Given the description of an element on the screen output the (x, y) to click on. 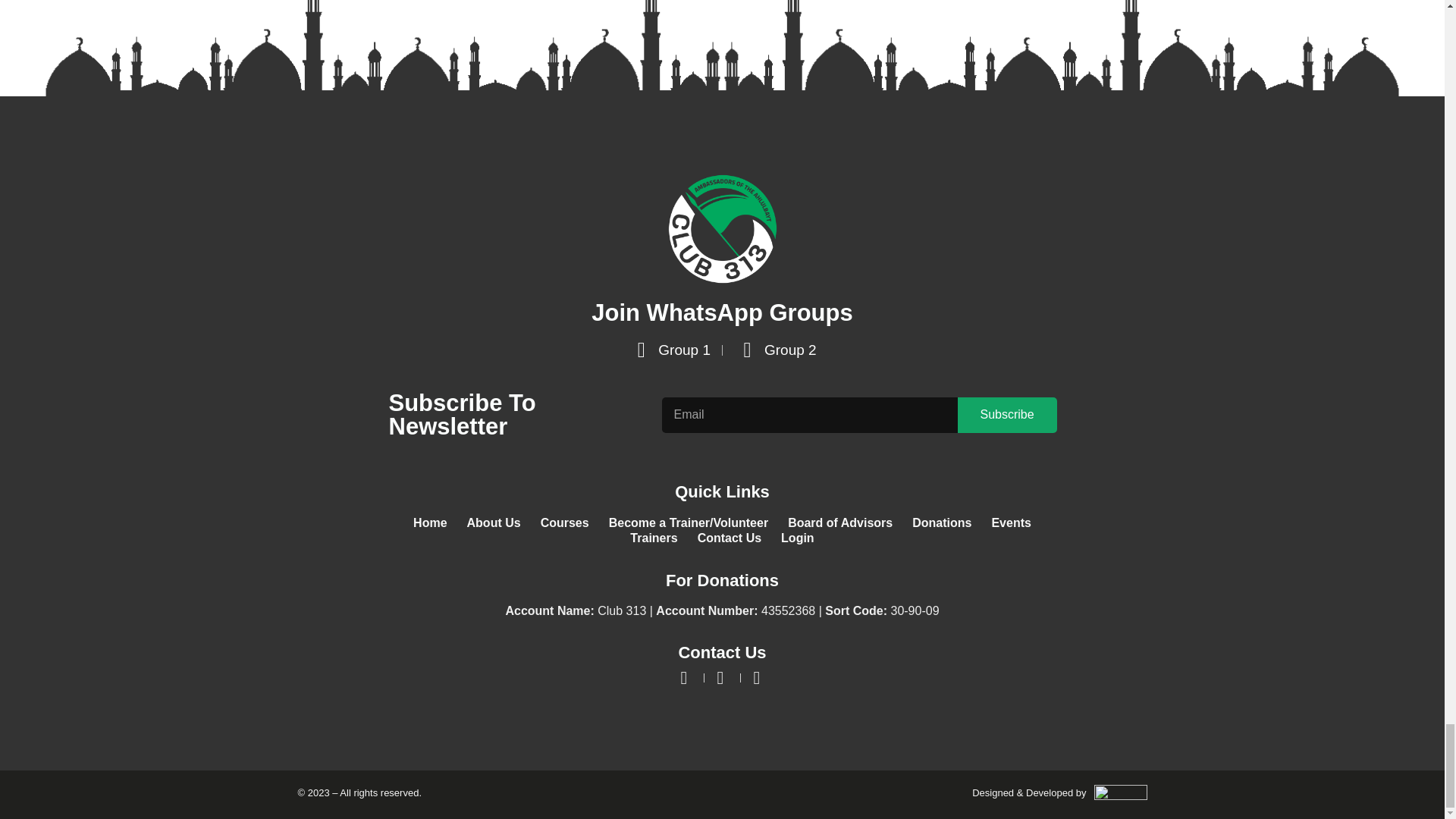
Group 2 (774, 350)
Group 1 (668, 350)
